Given the description of an element on the screen output the (x, y) to click on. 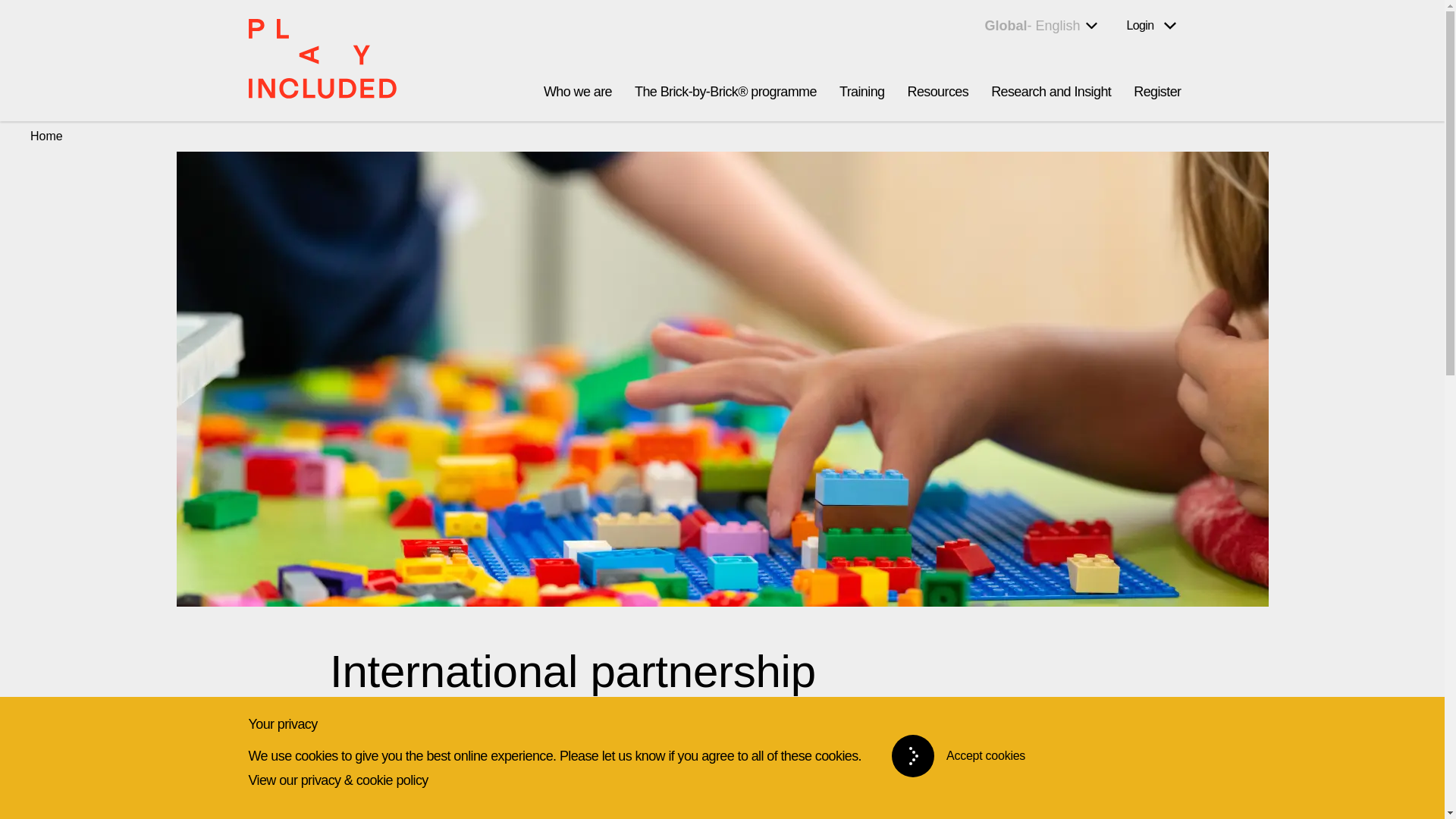
Accept cookies (967, 755)
Resources (937, 91)
Login (1150, 25)
Register (1157, 91)
Research and Insight (1050, 91)
Home (1040, 25)
Training (46, 135)
Who we are (862, 91)
